Given the description of an element on the screen output the (x, y) to click on. 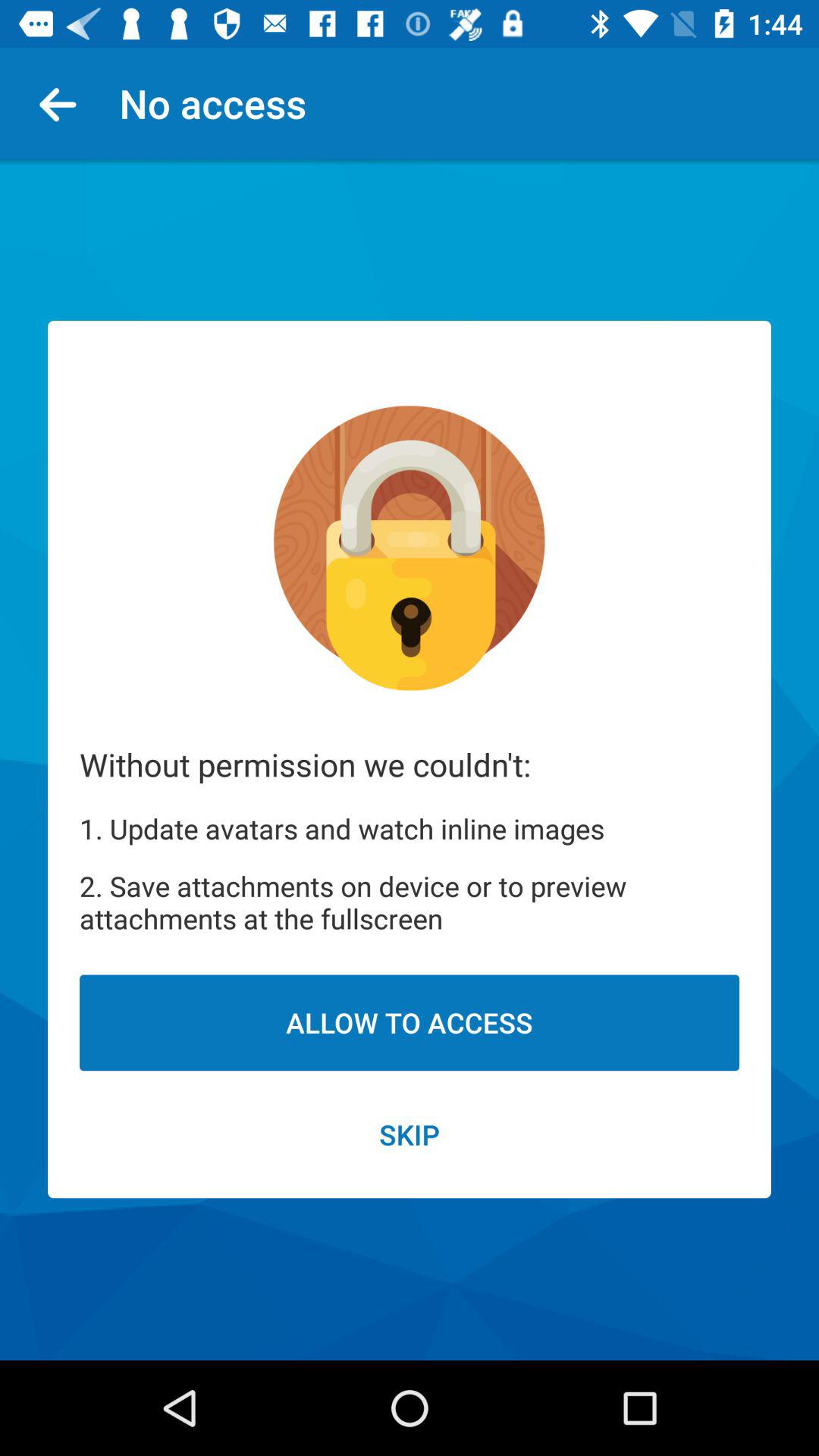
press the icon next to no access item (63, 103)
